Given the description of an element on the screen output the (x, y) to click on. 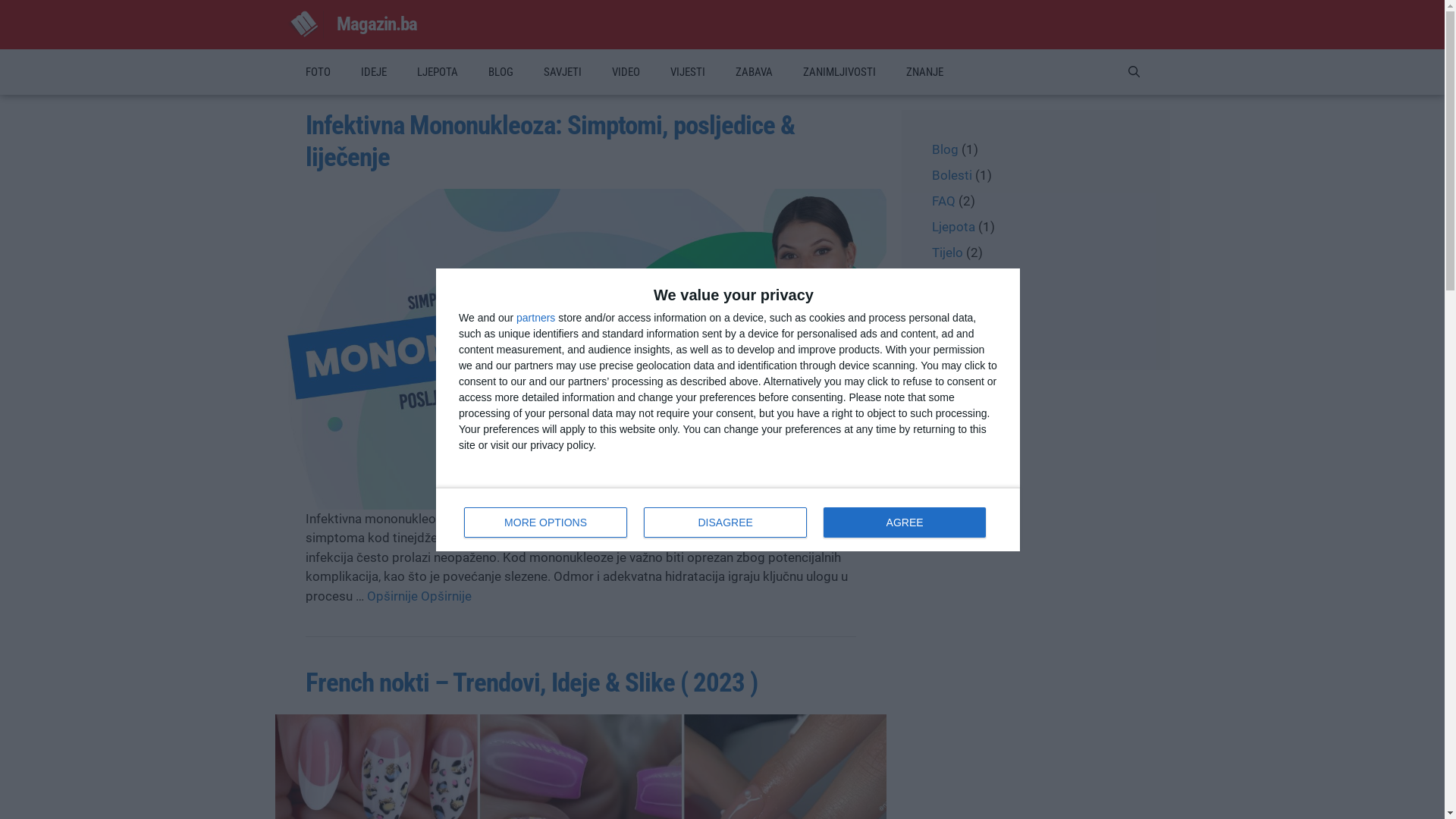
IDEJE Element type: text (373, 71)
Znanje Element type: text (950, 329)
ZABAVA Element type: text (753, 71)
Bolesti Element type: text (951, 174)
LJEPOTA Element type: text (437, 71)
FOTO Element type: text (317, 71)
Blog Element type: text (944, 148)
Tijelo Element type: text (946, 252)
partners Element type: text (535, 317)
SAVJETI Element type: text (561, 71)
Ljepota Element type: text (952, 226)
ZNANJE Element type: text (923, 71)
DISAGREE Element type: text (724, 521)
MORE OPTIONS Element type: text (545, 521)
VIDEO Element type: text (625, 71)
FAQ Element type: text (942, 200)
ZANIMLJIVOSTI Element type: text (838, 71)
Zdravlje Element type: text (953, 303)
VIJESTI Element type: text (687, 71)
Video Element type: text (947, 277)
Magazin.ba Element type: text (376, 23)
BLOG Element type: text (500, 71)
AGREE Element type: text (904, 521)
